Given the description of an element on the screen output the (x, y) to click on. 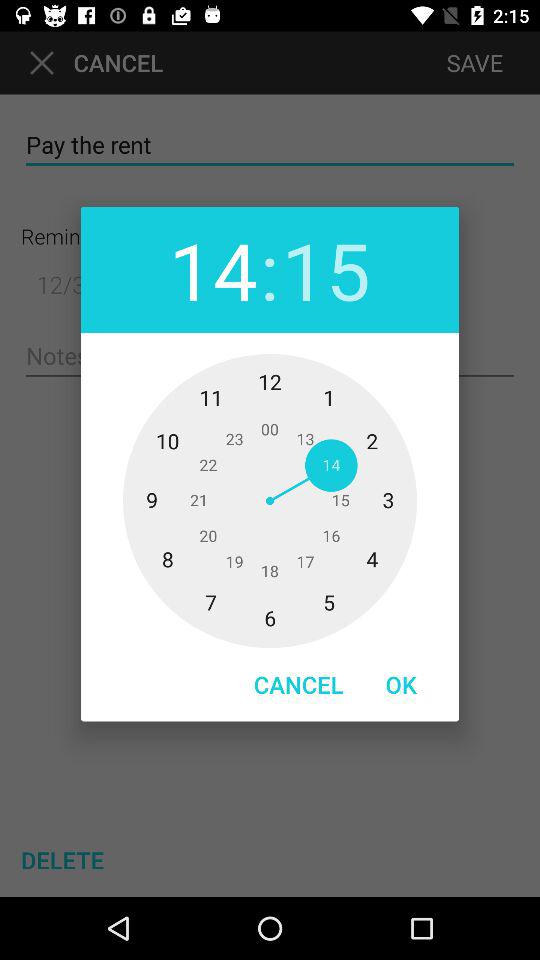
choose icon next to ok icon (298, 684)
